Given the description of an element on the screen output the (x, y) to click on. 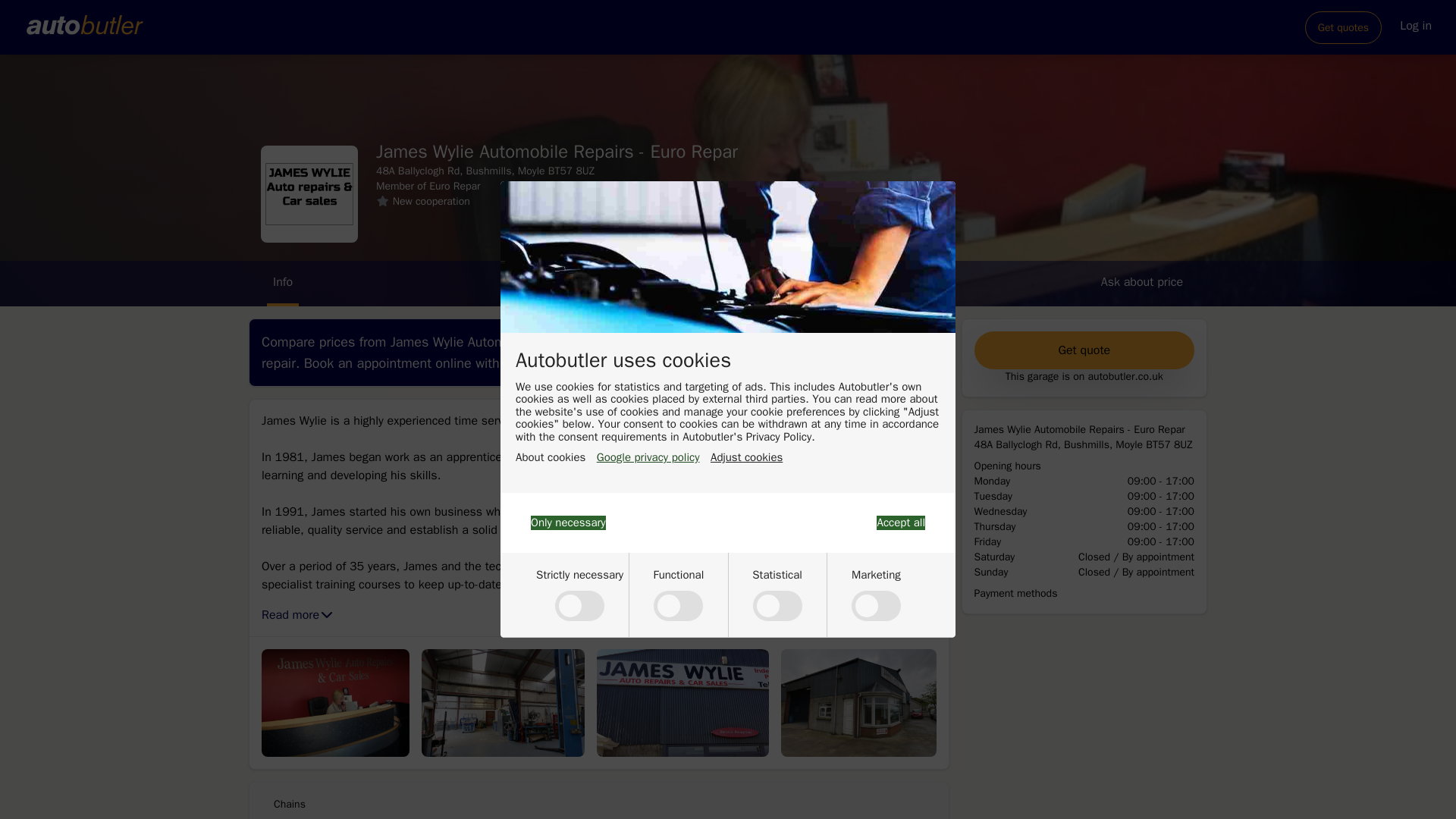
Accept all (900, 522)
Only necessary (568, 522)
About cookies (550, 457)
Adjust cookies (746, 457)
Google privacy policy (648, 457)
